Given the description of an element on the screen output the (x, y) to click on. 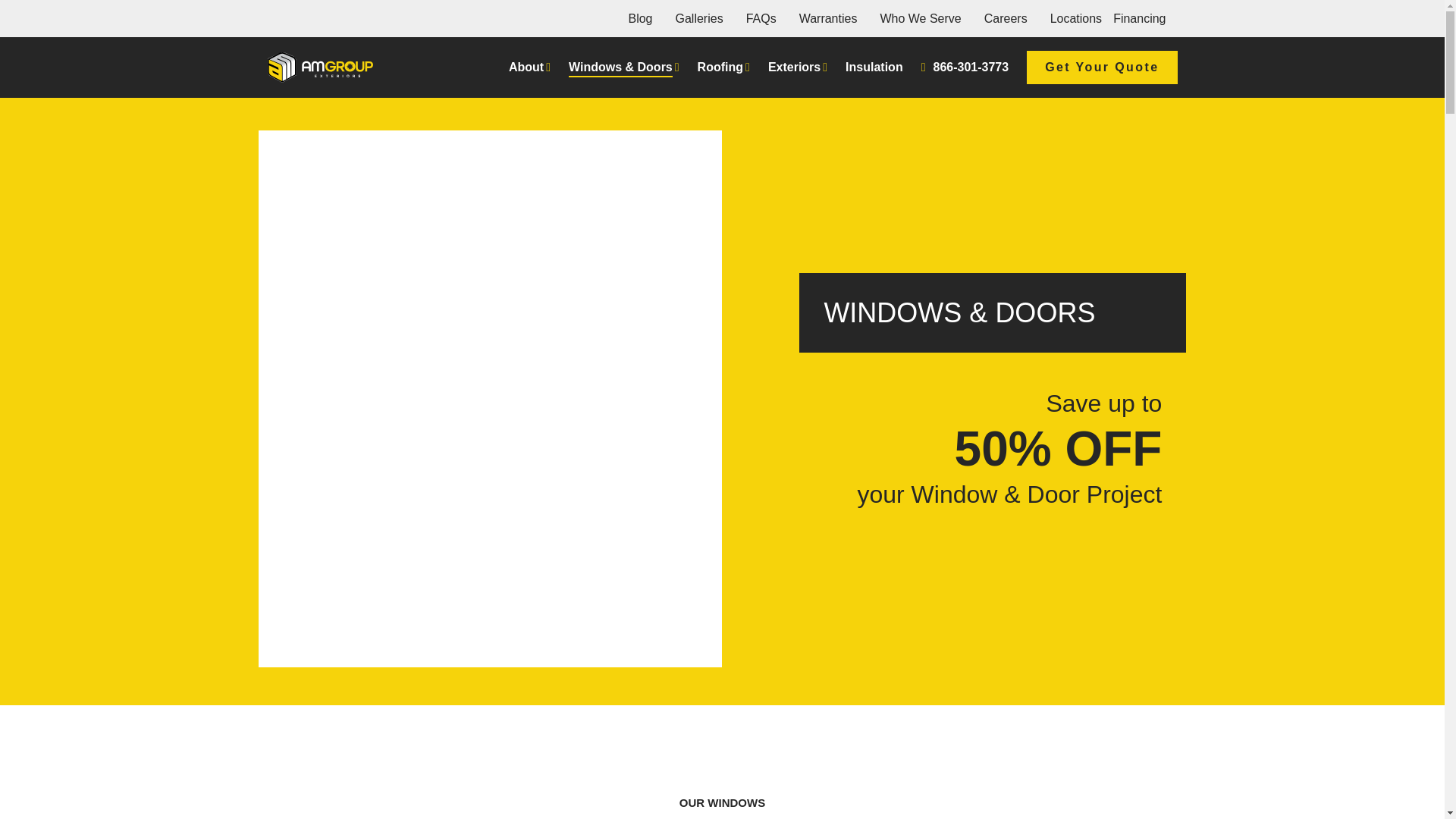
Warranties (828, 18)
FAQs (760, 18)
Galleries (698, 18)
About (529, 67)
Financing (1139, 18)
Roofing (723, 67)
Blog (639, 18)
Locations (1075, 18)
Careers (1005, 18)
Exteriors (797, 67)
